Given the description of an element on the screen output the (x, y) to click on. 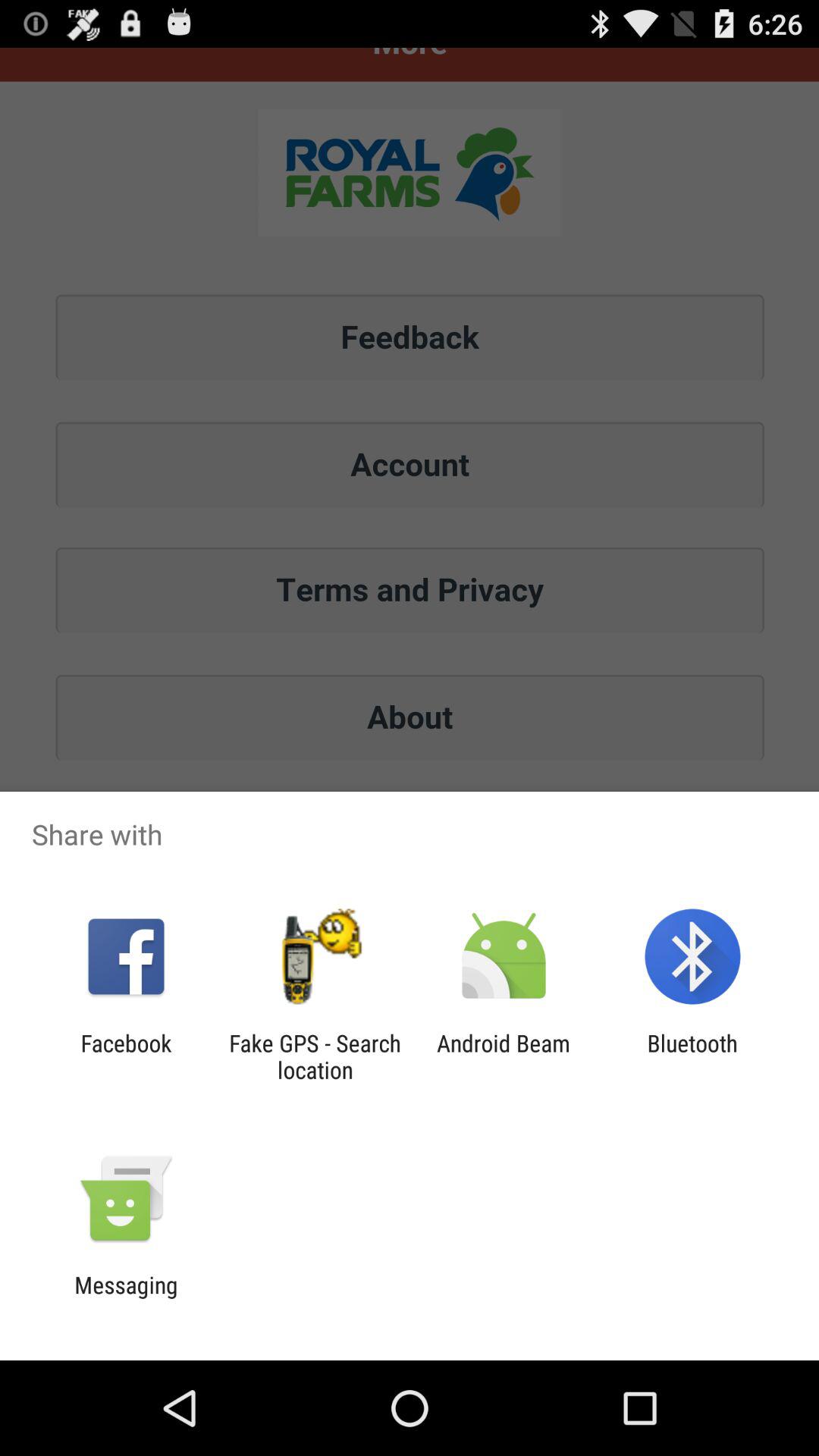
scroll to facebook icon (125, 1056)
